Given the description of an element on the screen output the (x, y) to click on. 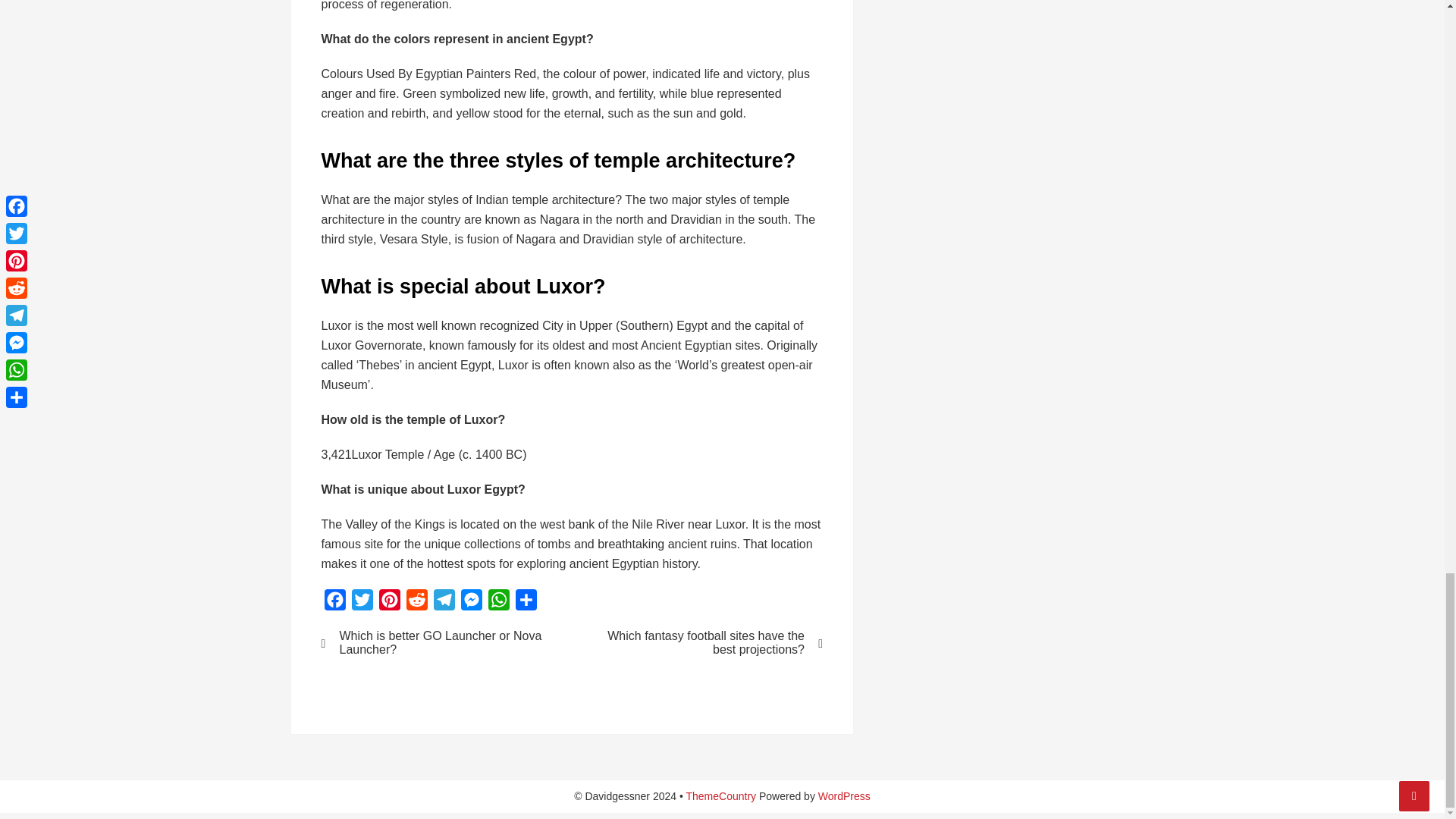
BasePress - The best free WordPress blog theme for WordPress (720, 796)
Reddit (416, 602)
Messenger (471, 602)
WhatsApp (498, 602)
Facebook (335, 602)
Twitter (362, 602)
Which is better GO Launcher or Nova Launcher? (436, 642)
Pinterest (389, 602)
Facebook (335, 602)
Messenger (471, 602)
